Given the description of an element on the screen output the (x, y) to click on. 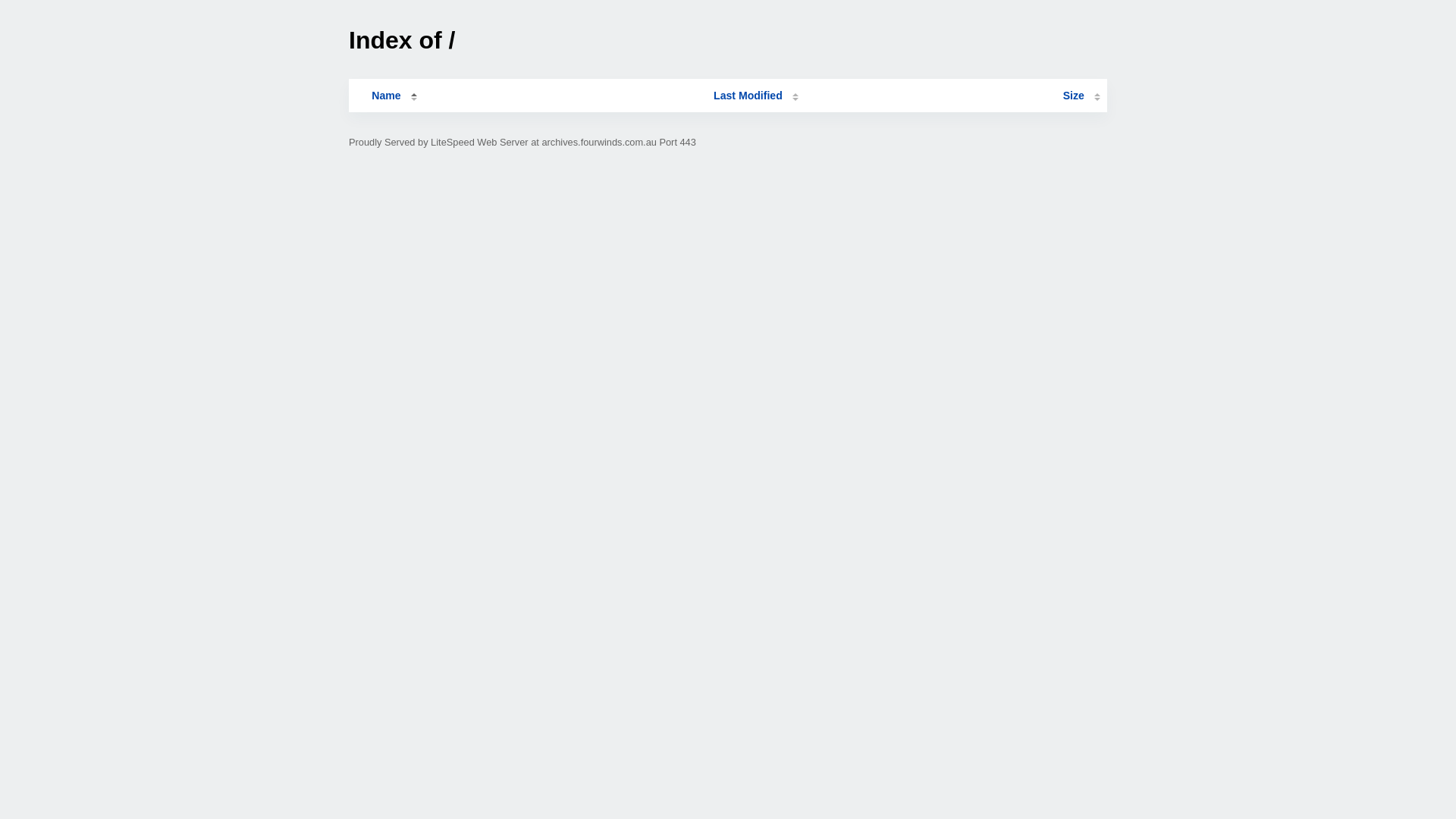
Size Element type: text (1081, 95)
Last Modified Element type: text (755, 95)
Name Element type: text (385, 95)
